Given the description of an element on the screen output the (x, y) to click on. 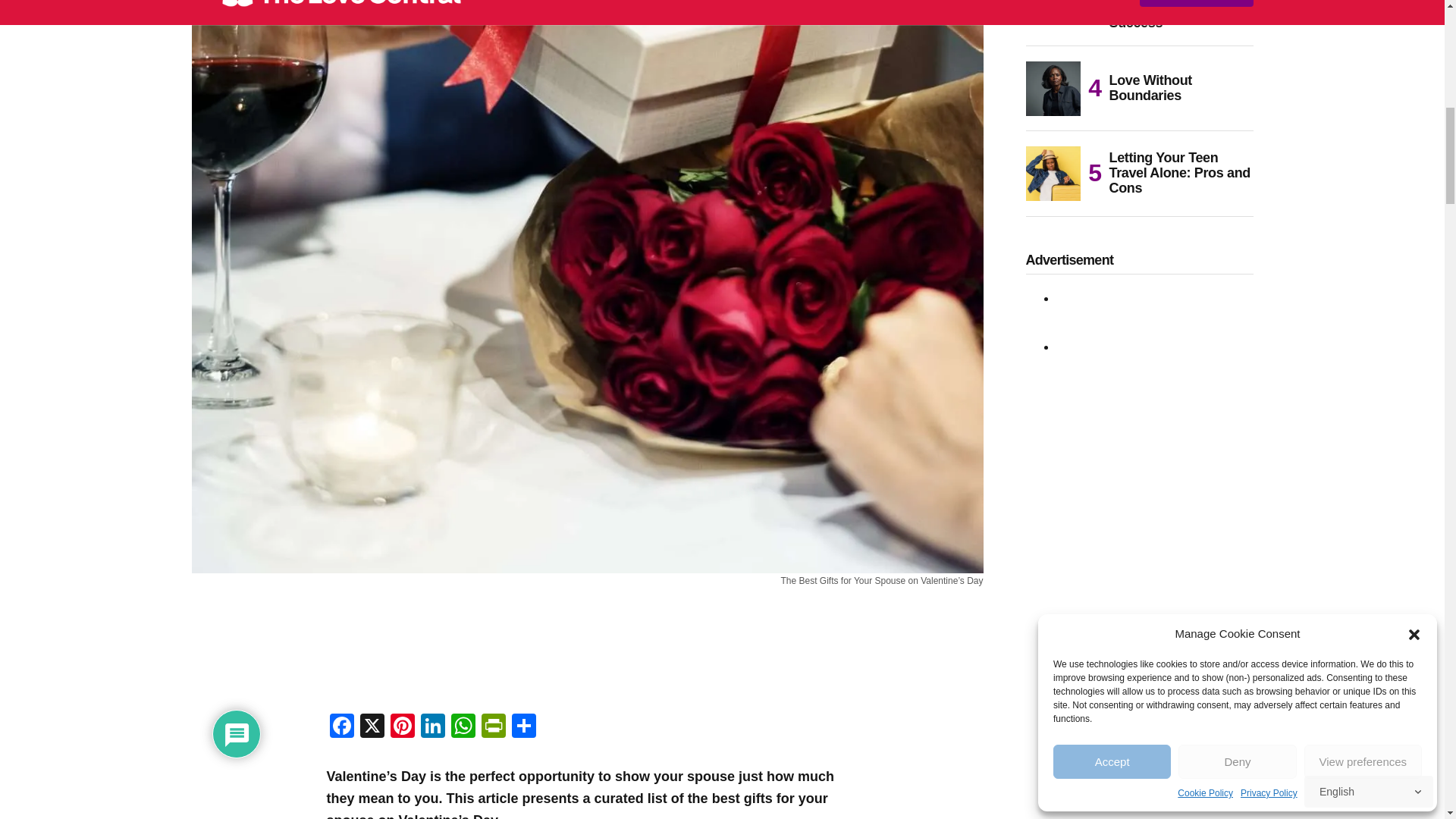
Facebook (341, 727)
PrintFriendly (492, 727)
Pinterest (401, 727)
X (371, 727)
WhatsApp (461, 727)
LinkedIn (431, 727)
